Given the description of an element on the screen output the (x, y) to click on. 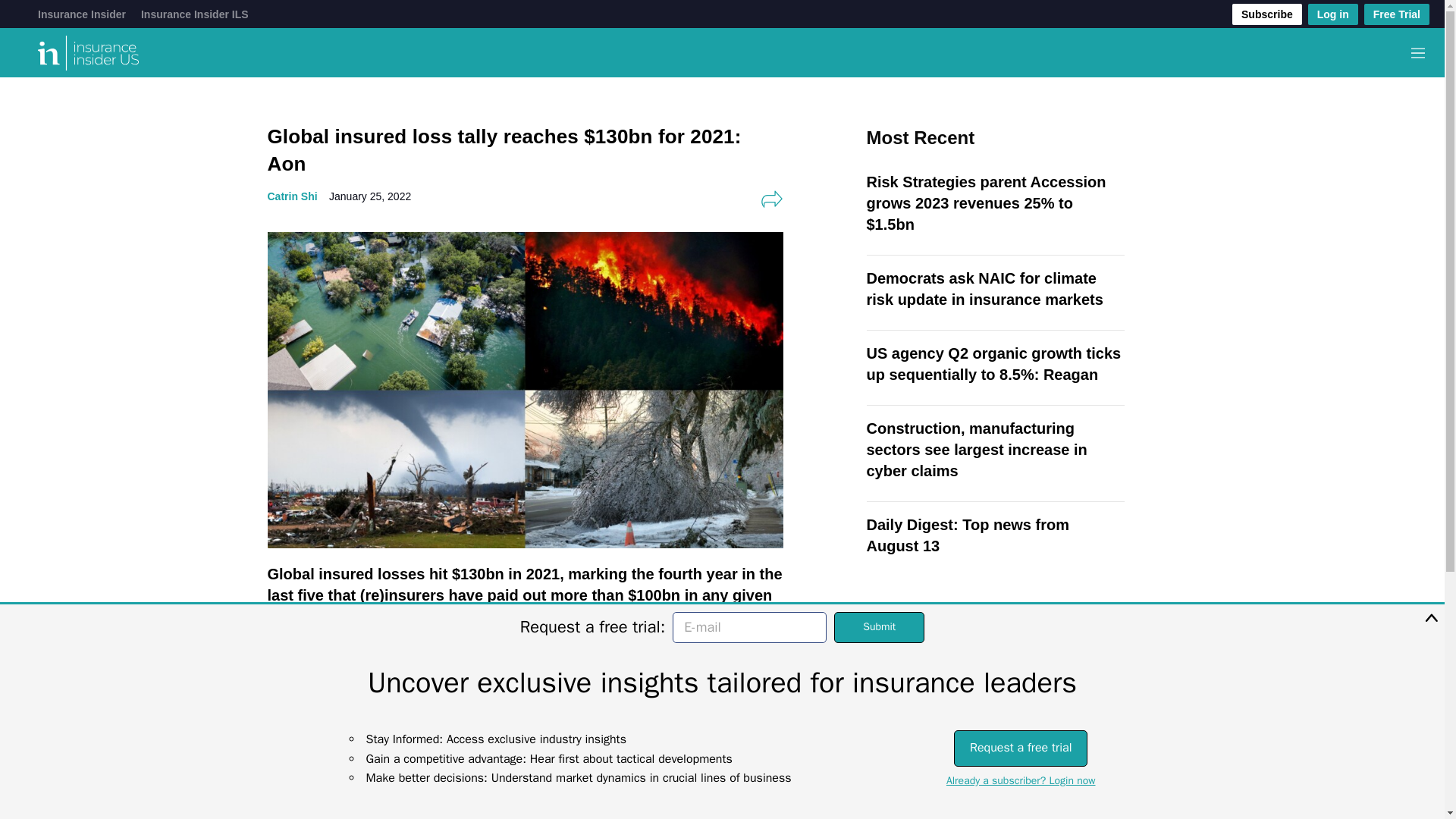
Insurance Insider ILS (194, 13)
Subscribe (1266, 13)
Insurance Insider (81, 13)
Free Trial (1396, 13)
Share (771, 199)
Log in (1332, 13)
Submit (879, 626)
